Given the description of an element on the screen output the (x, y) to click on. 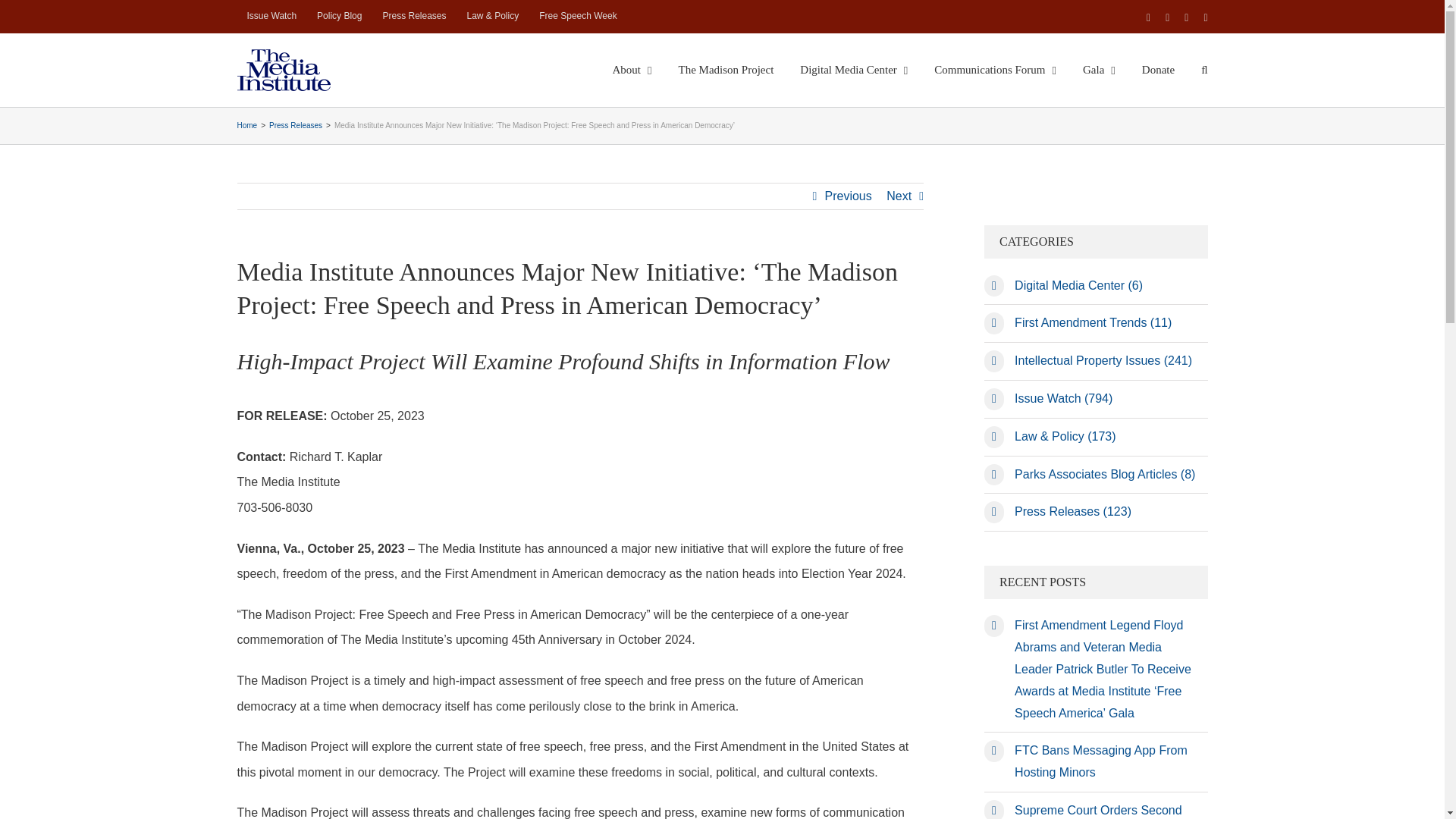
Free Speech Week (578, 16)
Press Releases (413, 16)
Communications Forum (995, 70)
Press Releases (413, 16)
Issue Watch (270, 16)
The Madison Project (726, 70)
About (632, 70)
Digital Media Center (853, 70)
Gala (1099, 70)
Issue Watch (270, 16)
Policy Blog (339, 16)
